Given the description of an element on the screen output the (x, y) to click on. 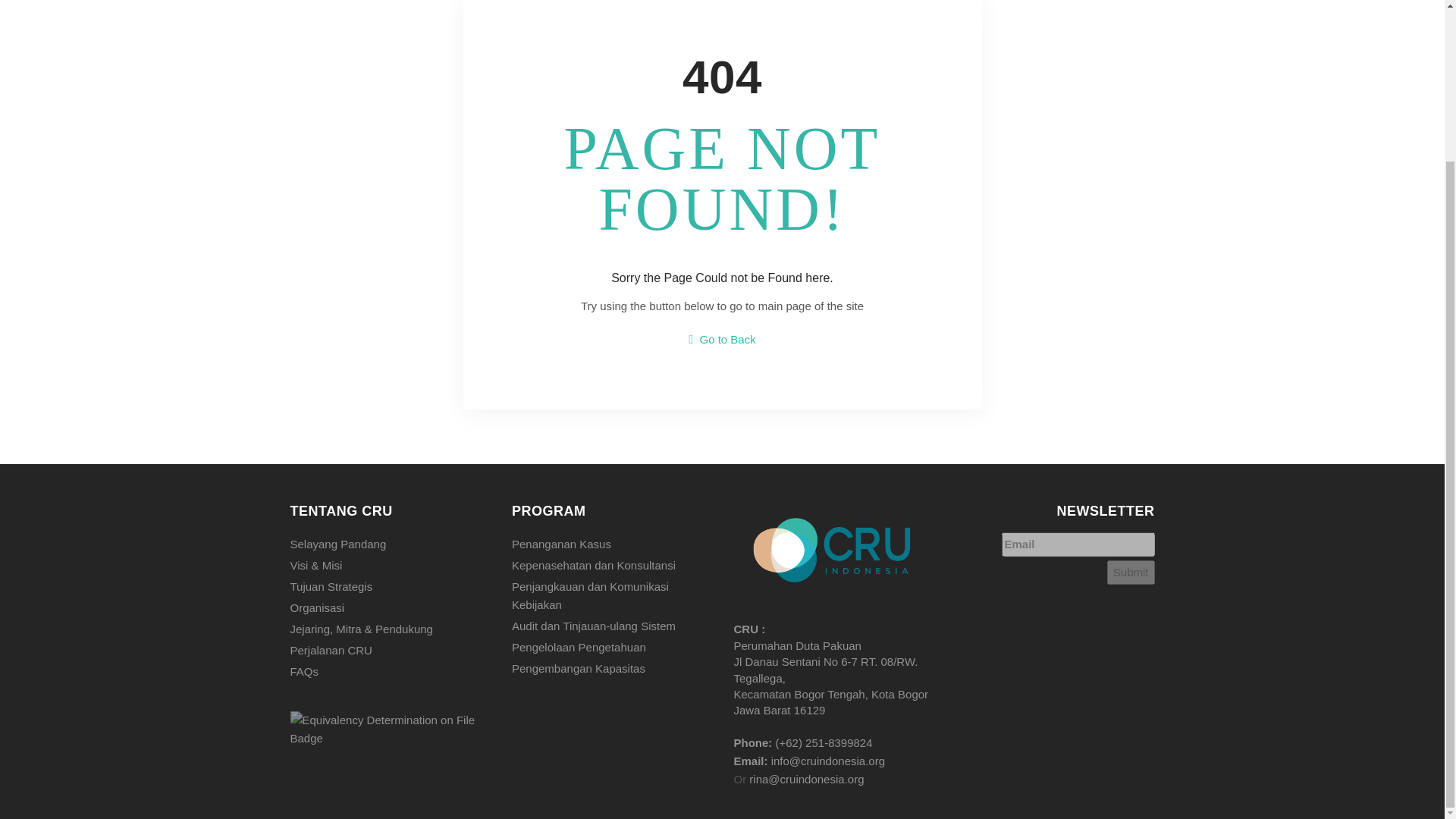
  Go to Back (721, 338)
Organisasi (389, 606)
Perjalanan CRU (389, 649)
Selayang Pandang (389, 542)
Penanganan Kasus (611, 542)
FAQs (389, 670)
Tujuan Strategis (389, 585)
Submit (1130, 572)
